Given the description of an element on the screen output the (x, y) to click on. 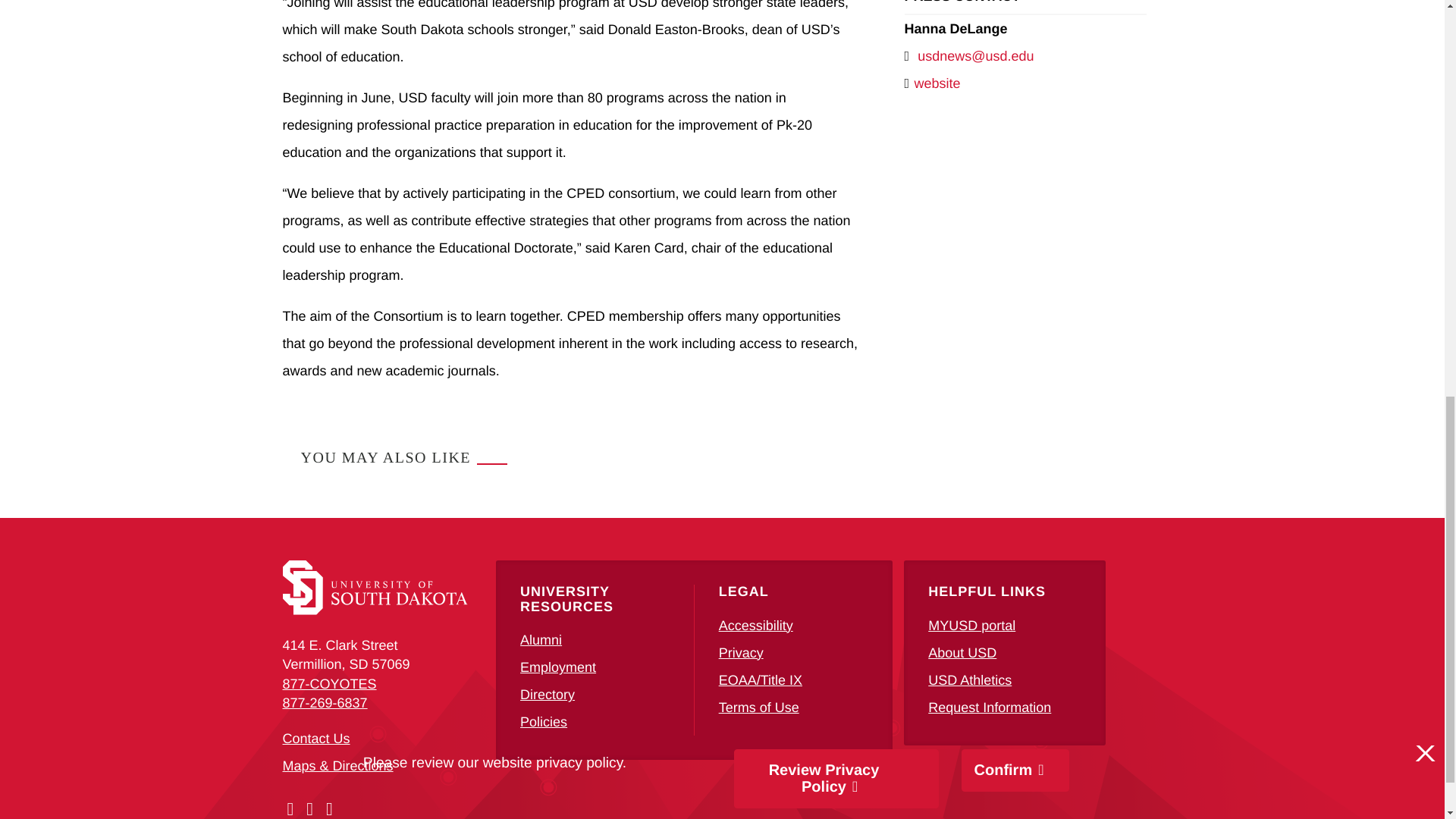
MYUSD portal (971, 625)
Employment (557, 667)
USD Policies (543, 721)
Faculty and Staff Directory (547, 694)
USD Athletics site (969, 679)
About USD (961, 652)
USD Terms of Use (759, 707)
Privacy (740, 652)
Request Information (989, 707)
Accessibility (756, 625)
